Given the description of an element on the screen output the (x, y) to click on. 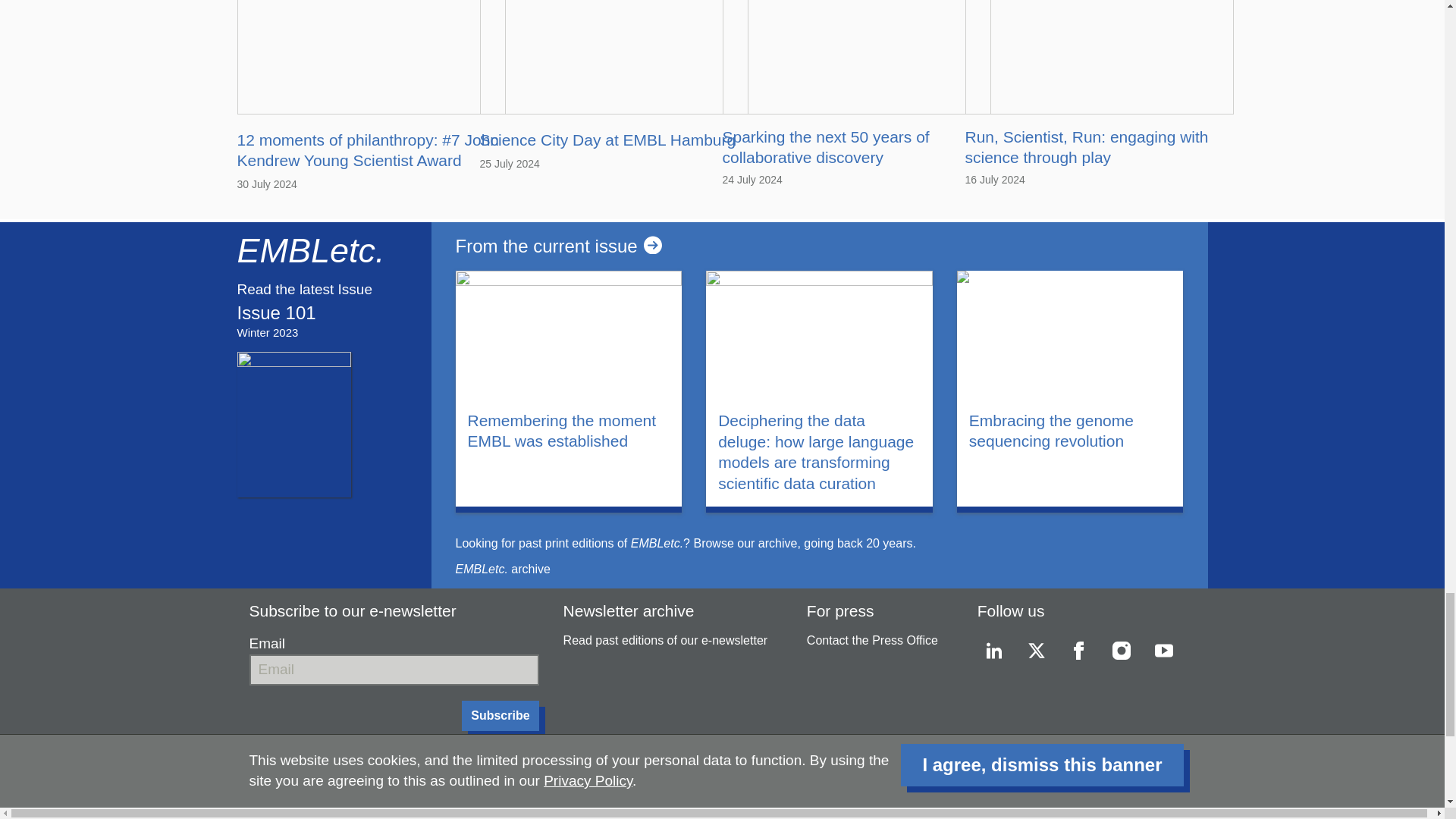
Remembering the moment EMBL was established (568, 430)
Contact the Press Office (871, 640)
linkedin (993, 650)
Run, Scientist, Run: engaging with science through play (1085, 146)
From the current issue (818, 246)
facebook (1079, 650)
Science City Day at EMBL Hamburg (607, 139)
Embracing the genome sequencing revolution (1070, 430)
EMBLetc. archive (502, 568)
Subscribe (499, 716)
Read past editions of our e-newsletter (665, 640)
twitter (1036, 650)
Sparking the next 50 years of collaborative discovery (825, 146)
